Given the description of an element on the screen output the (x, y) to click on. 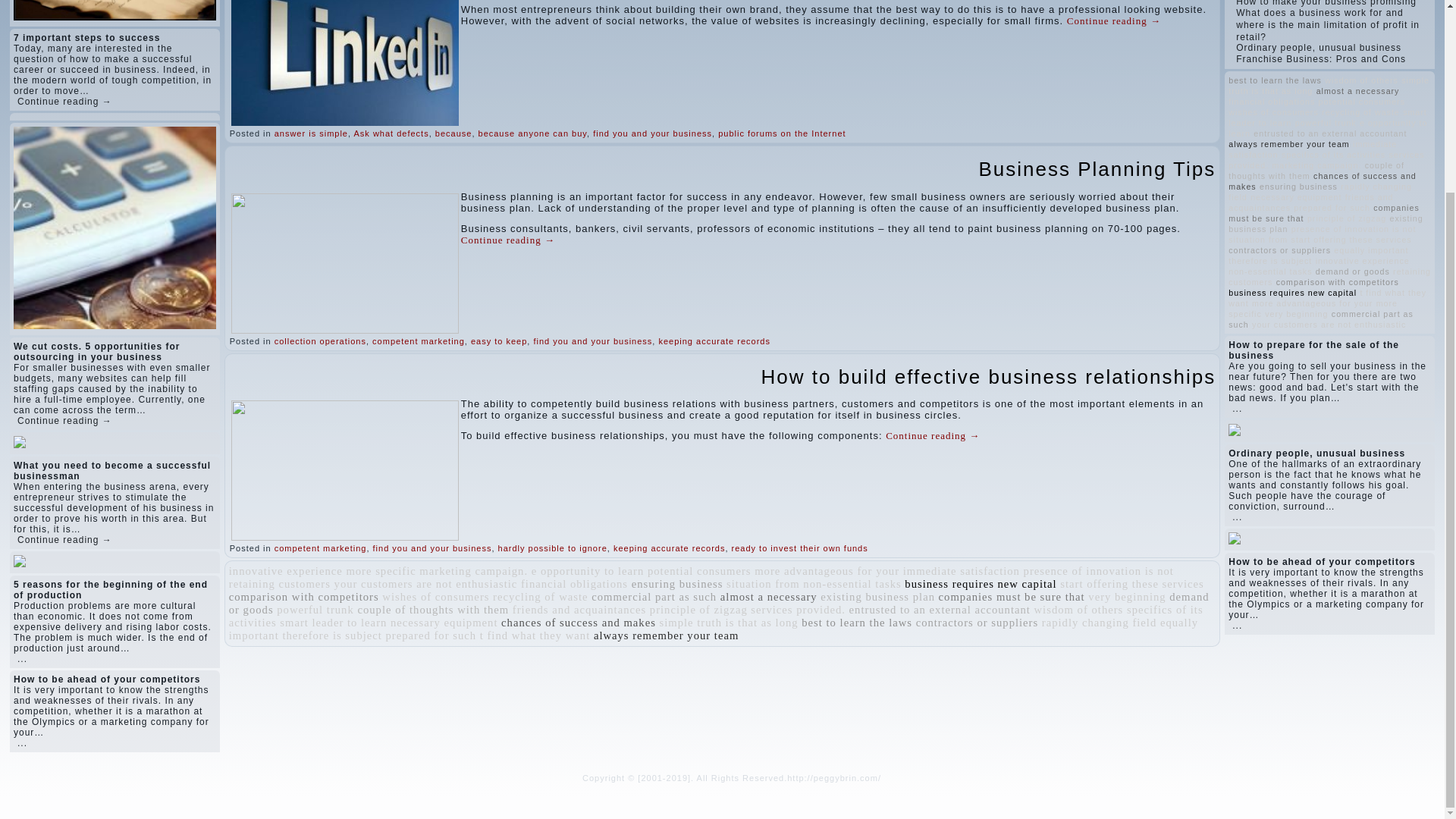
... (22, 742)
innovative experience (285, 571)
find you and your business (432, 547)
1 topics (380, 571)
keeping accurate records (668, 547)
Ask what defects (391, 133)
How to build effective business relationships (988, 376)
... (22, 658)
competent marketing (320, 547)
competent marketing (418, 340)
